Given the description of an element on the screen output the (x, y) to click on. 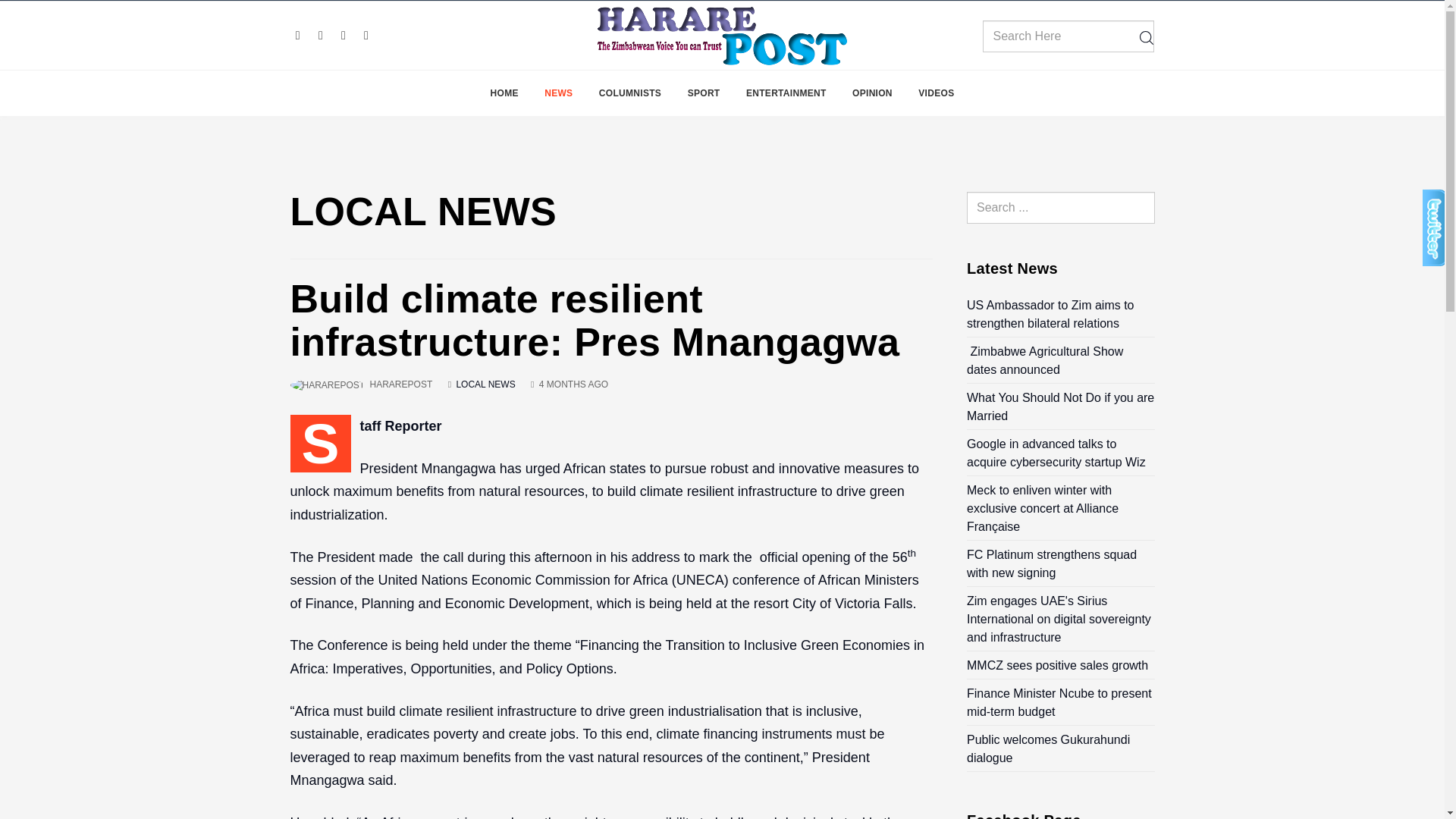
Article Category (485, 384)
HOME (504, 93)
Harare Post (721, 34)
Written by  (400, 384)
NEWS (557, 93)
